Given the description of an element on the screen output the (x, y) to click on. 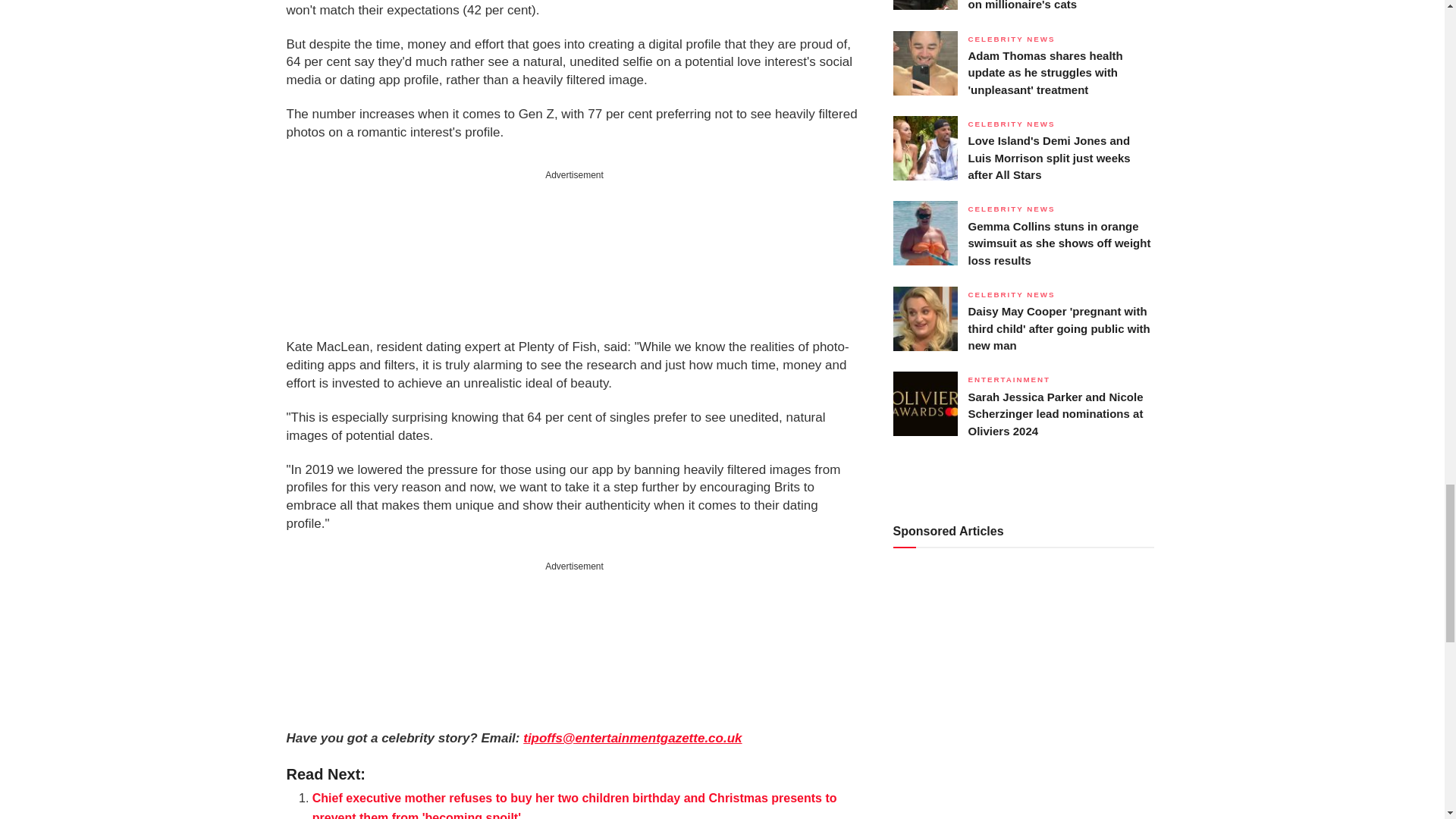
Advertisement (574, 647)
Advertisement (574, 256)
